Given the description of an element on the screen output the (x, y) to click on. 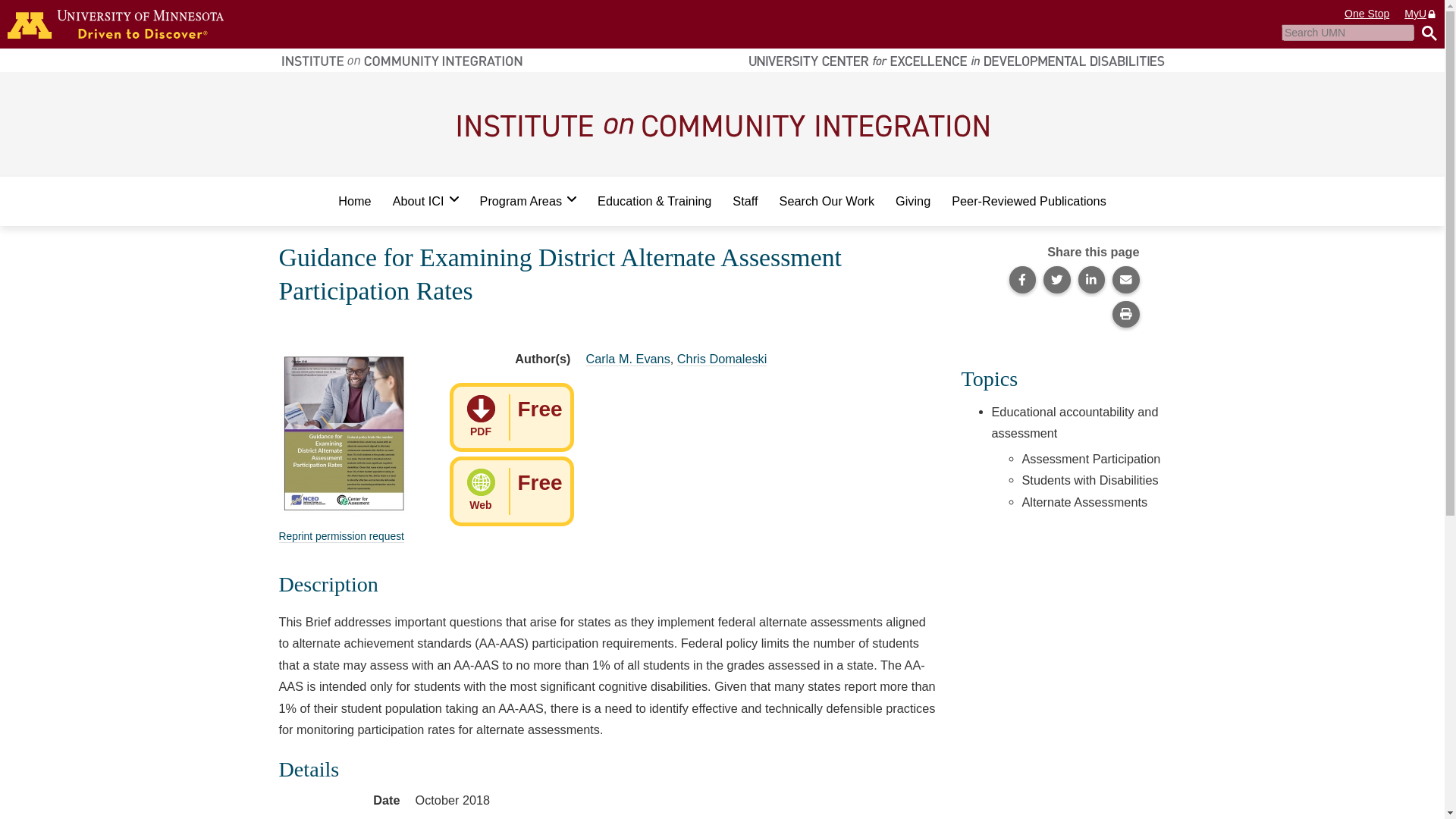
Button (1425, 32)
Share this page on LinkedIn. (1091, 279)
Peer-Reviewed Publications (1028, 201)
MyU (510, 417)
One Stop (1421, 13)
Program Areas (1366, 13)
home page (528, 201)
Reprint permission request (115, 24)
Share this page on Twitter. (341, 535)
